Given the description of an element on the screen output the (x, y) to click on. 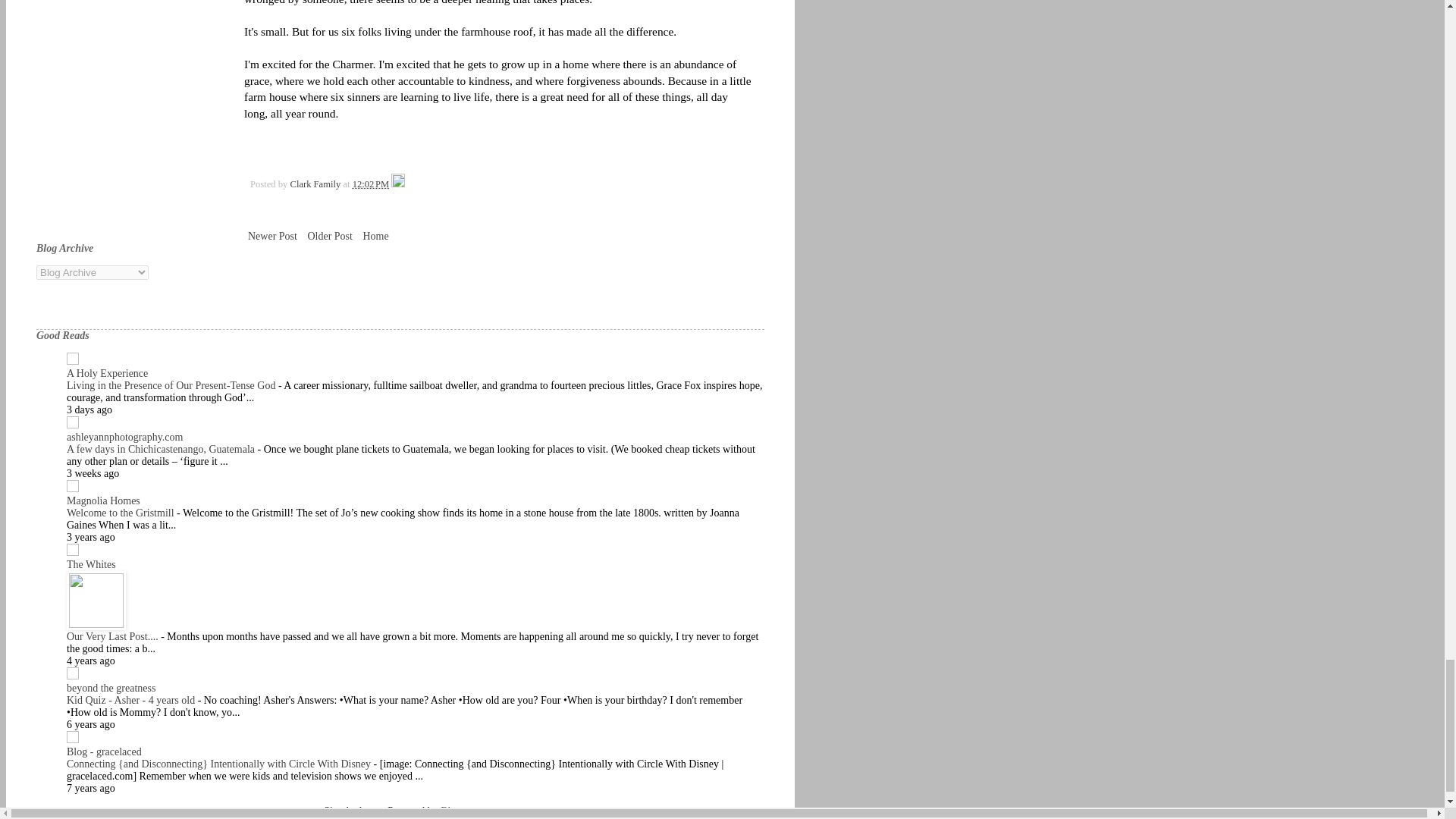
Our Very Last Post.... (113, 636)
Welcome to the Gristmill (121, 512)
author profile (315, 184)
Older Post (329, 235)
A few days in Chichicastenango, Guatemala (161, 449)
beyond the greatness (110, 687)
Edit Post (397, 184)
Clark Family (315, 184)
permanent link (370, 184)
ashleyannphotography.com (124, 437)
Magnolia Homes (102, 500)
Blogger (457, 810)
Newer Post (272, 235)
Kid Quiz - Asher - 4 years old (132, 699)
Newer Post (272, 235)
